Given the description of an element on the screen output the (x, y) to click on. 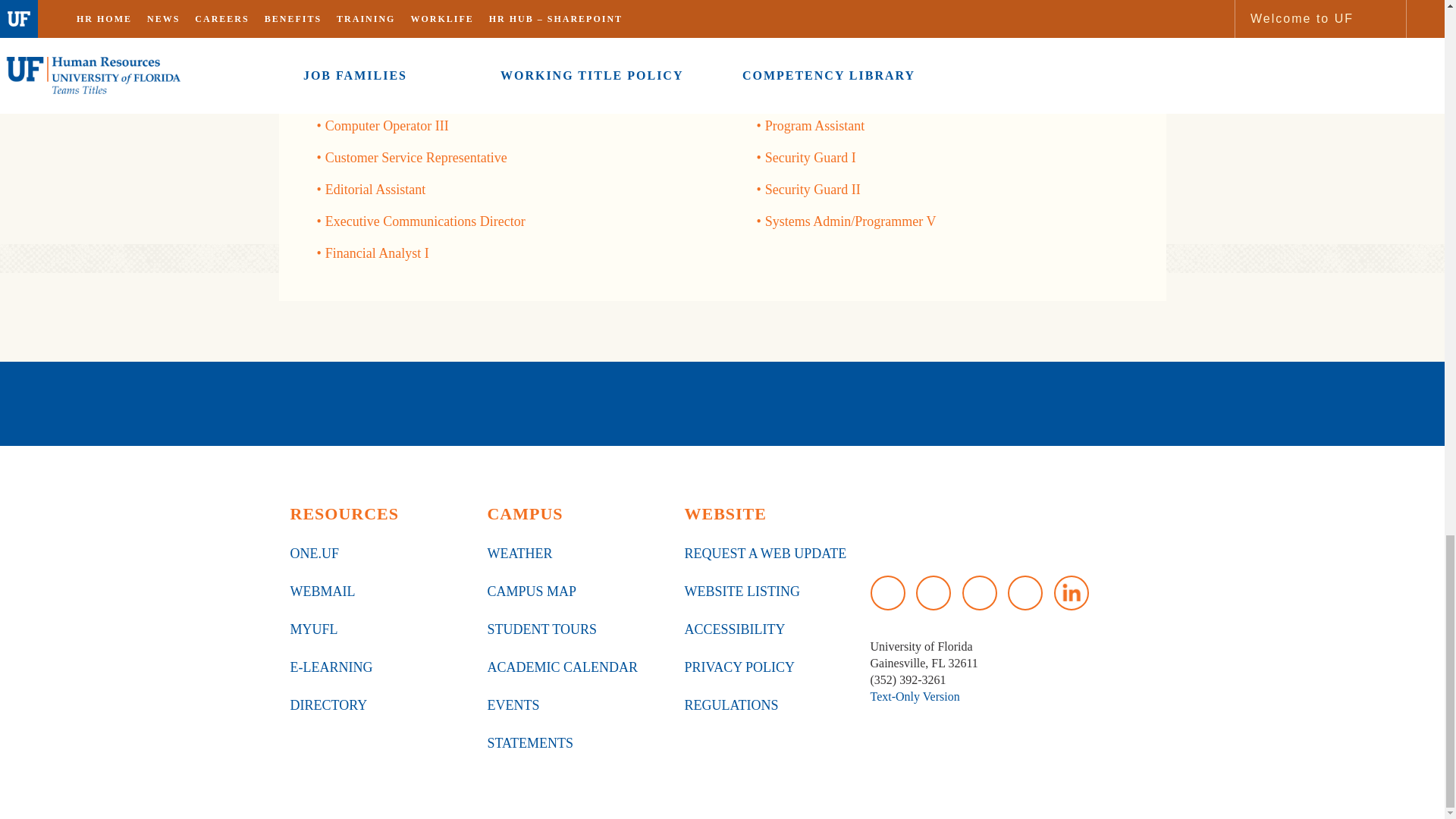
Computer Operator III (386, 125)
Customer Service Representative (415, 157)
Chemist IV (356, 2)
Computer Operator II (384, 93)
Executive Communications Director (424, 221)
Editorial Assistant (375, 189)
Chief Meteorologist (379, 29)
LinkedIn (1071, 592)
Computer Operator I (381, 61)
